Given the description of an element on the screen output the (x, y) to click on. 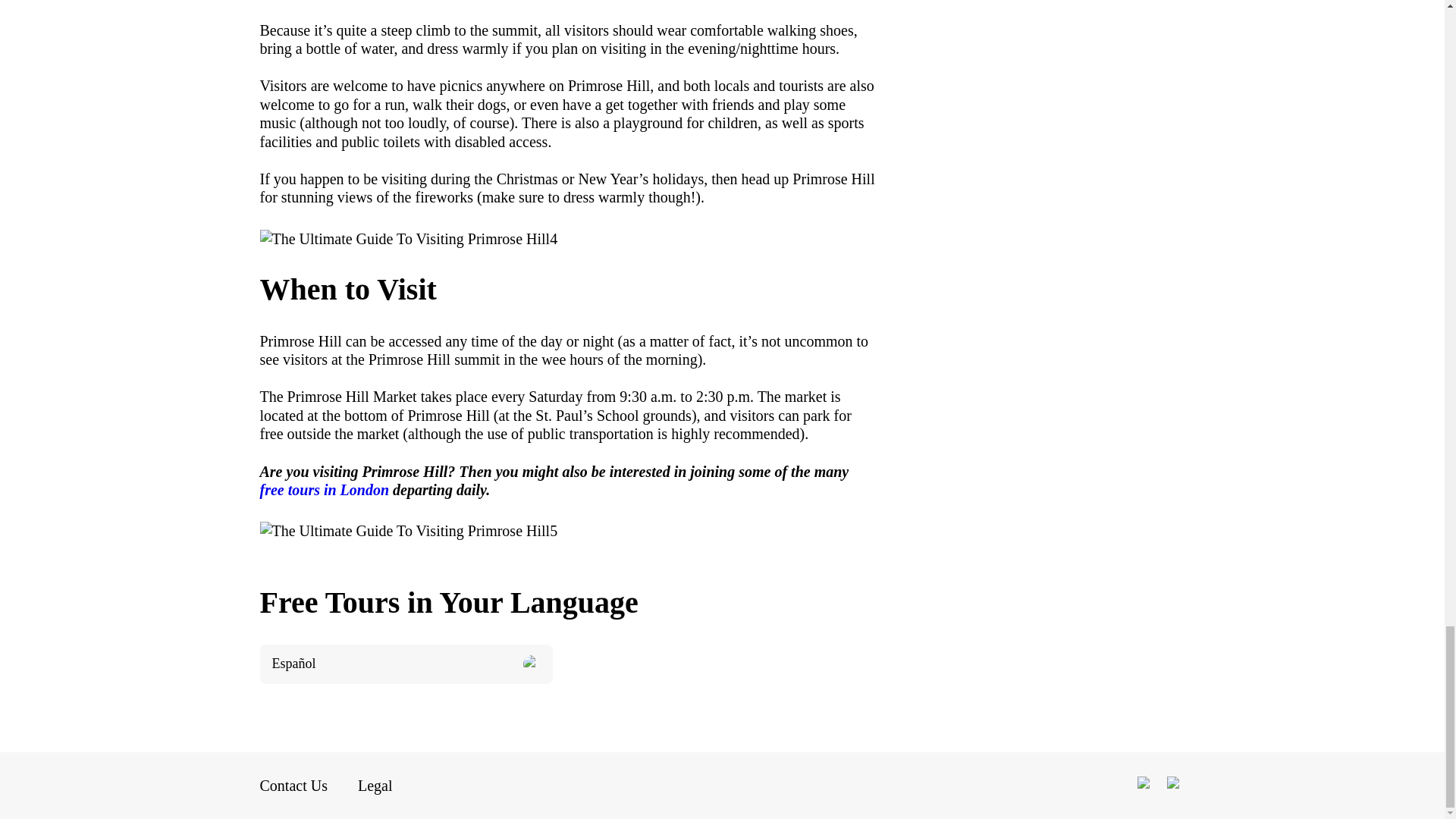
free tours in London (323, 489)
